Given the description of an element on the screen output the (x, y) to click on. 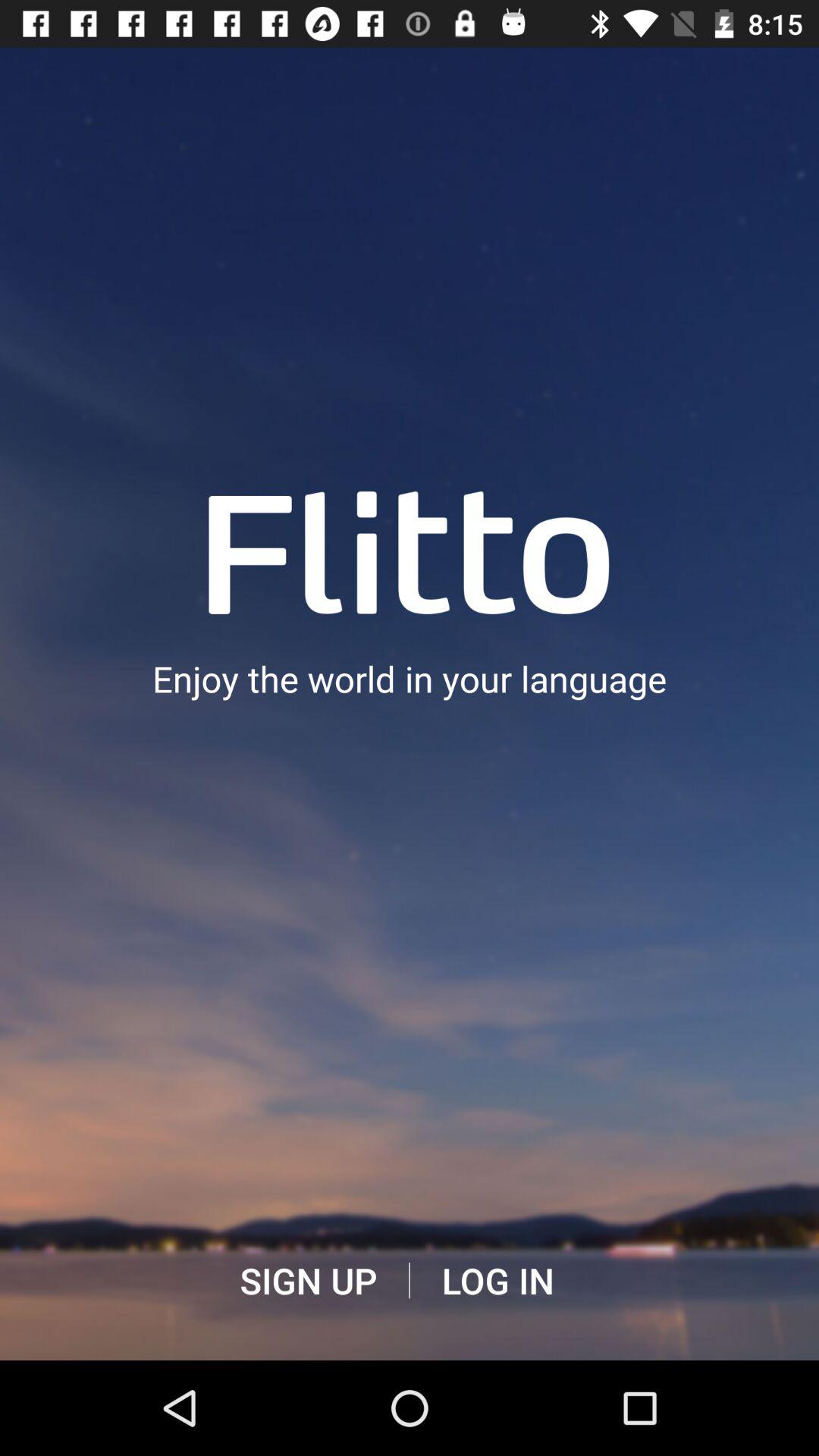
choose item below the enjoy the world app (308, 1280)
